Given the description of an element on the screen output the (x, y) to click on. 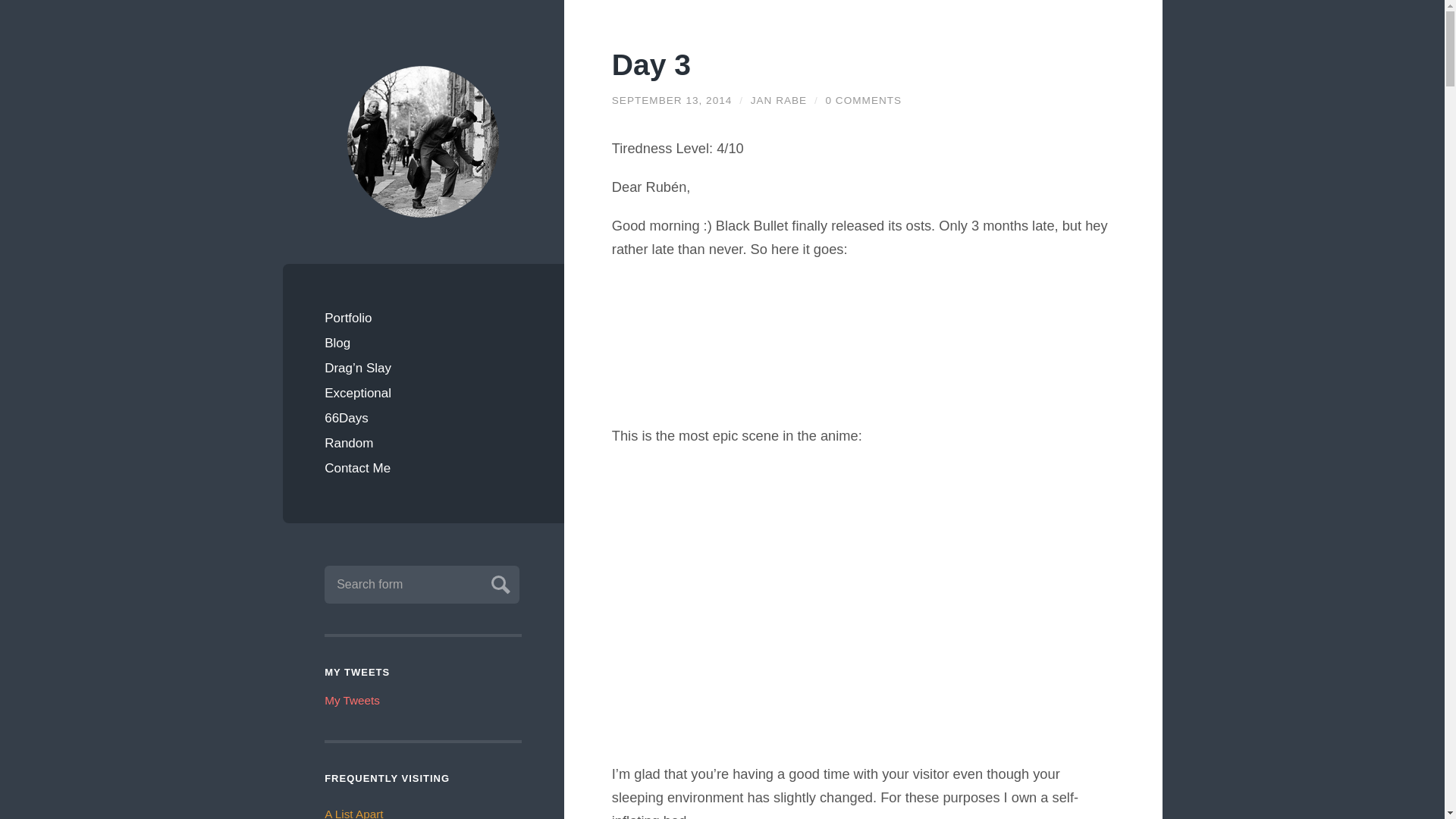
Search (498, 582)
Submit (498, 582)
My Tweets (352, 699)
66Days (422, 417)
Exceptional (422, 392)
A List Apart (353, 813)
Portfolio (422, 317)
Contact Me (422, 467)
Blog (422, 342)
Random (422, 442)
